Given the description of an element on the screen output the (x, y) to click on. 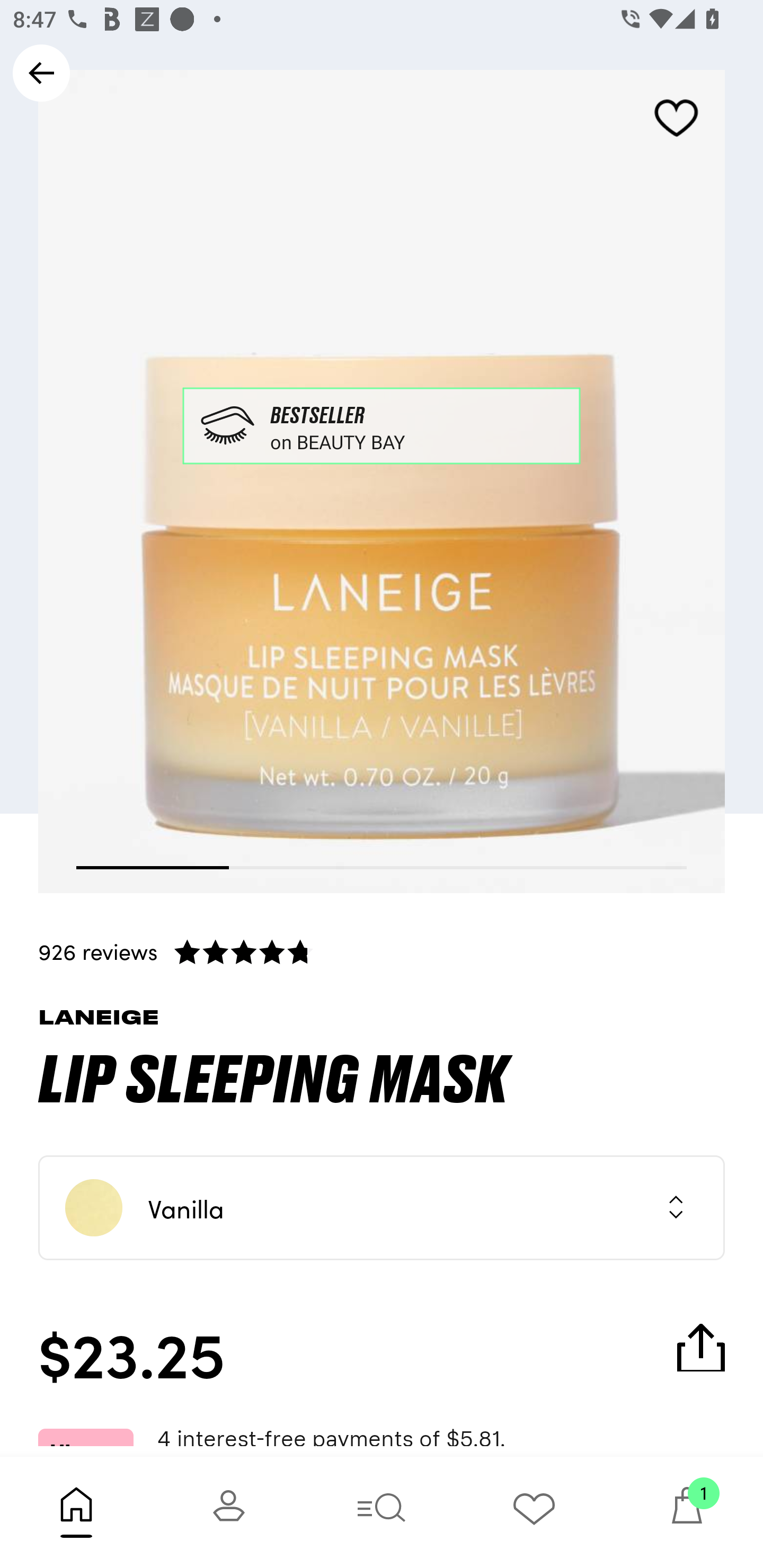
926 reviews (381, 950)
Vanilla  (381, 1207)
1 (686, 1512)
